Given the description of an element on the screen output the (x, y) to click on. 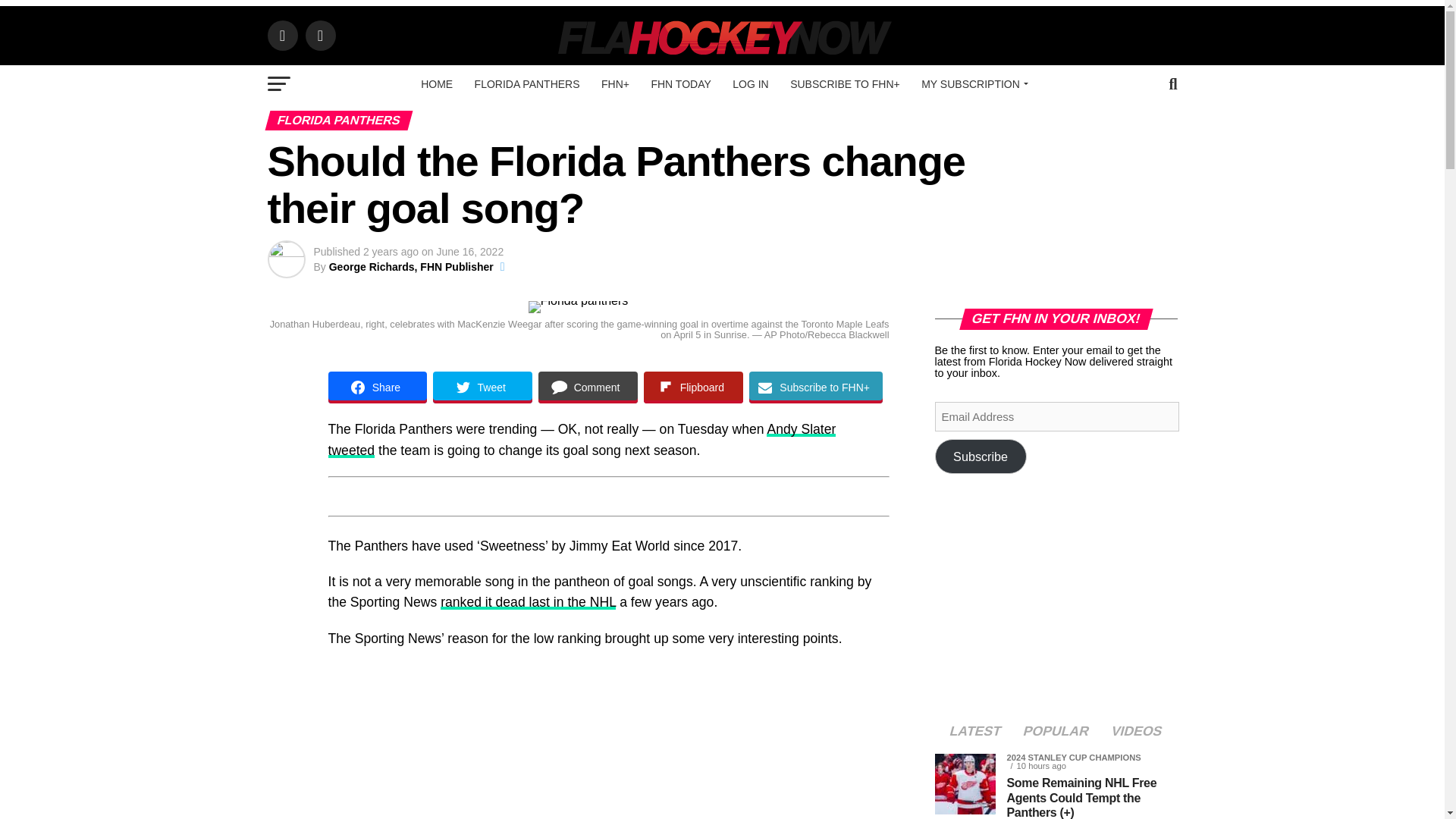
LOG IN (750, 84)
Share on Share (376, 387)
FHN TODAY (680, 84)
HOME (436, 84)
Posts by George Richards, FHN Publisher (411, 266)
Share on Flipboard (692, 387)
Share on Comment (587, 387)
Share on Tweet (482, 387)
FLORIDA PANTHERS (527, 84)
